Given the description of an element on the screen output the (x, y) to click on. 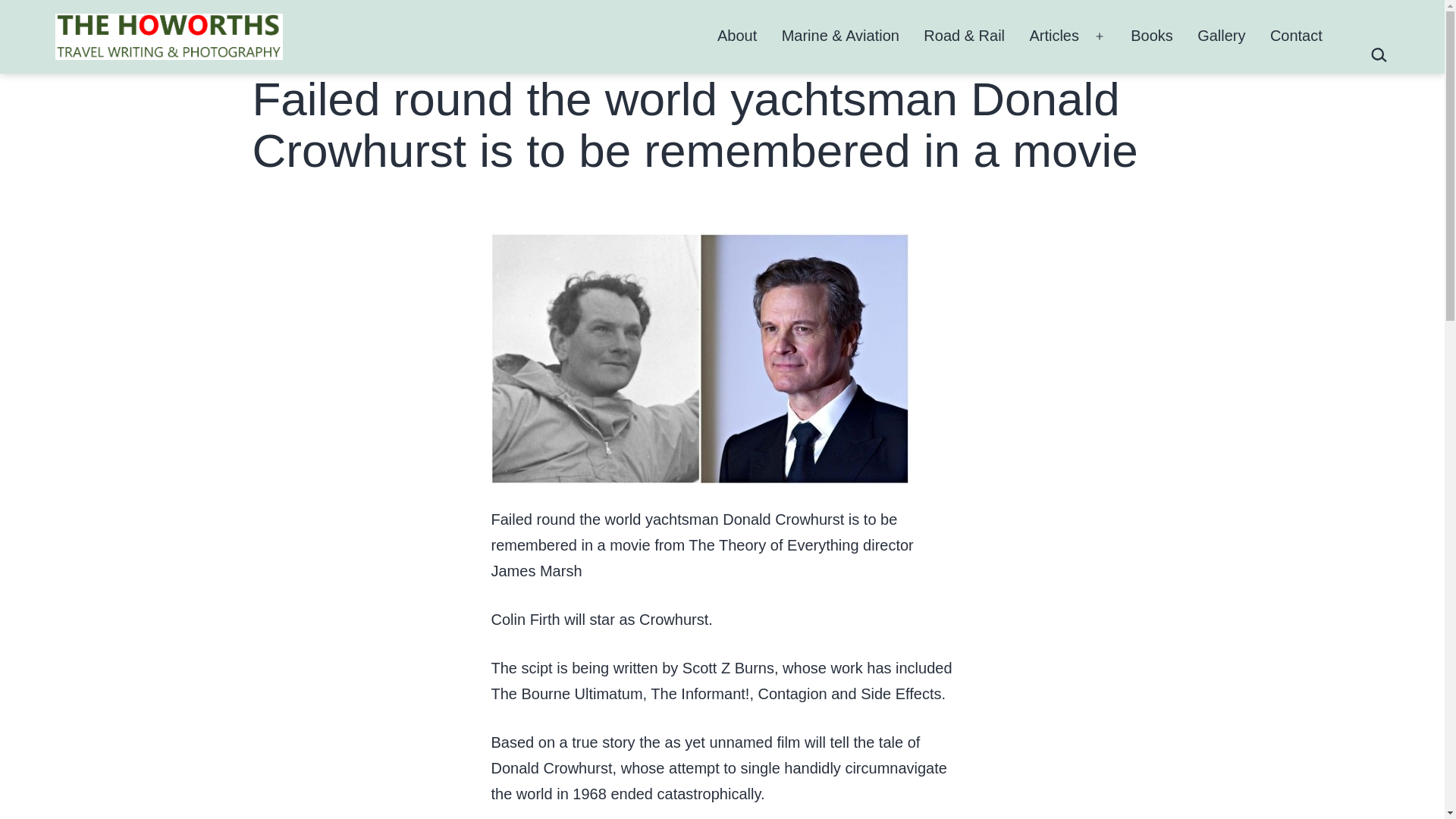
Books (1151, 36)
Articles (1054, 36)
Contact (1296, 36)
About (737, 36)
Gallery (1221, 36)
